Given the description of an element on the screen output the (x, y) to click on. 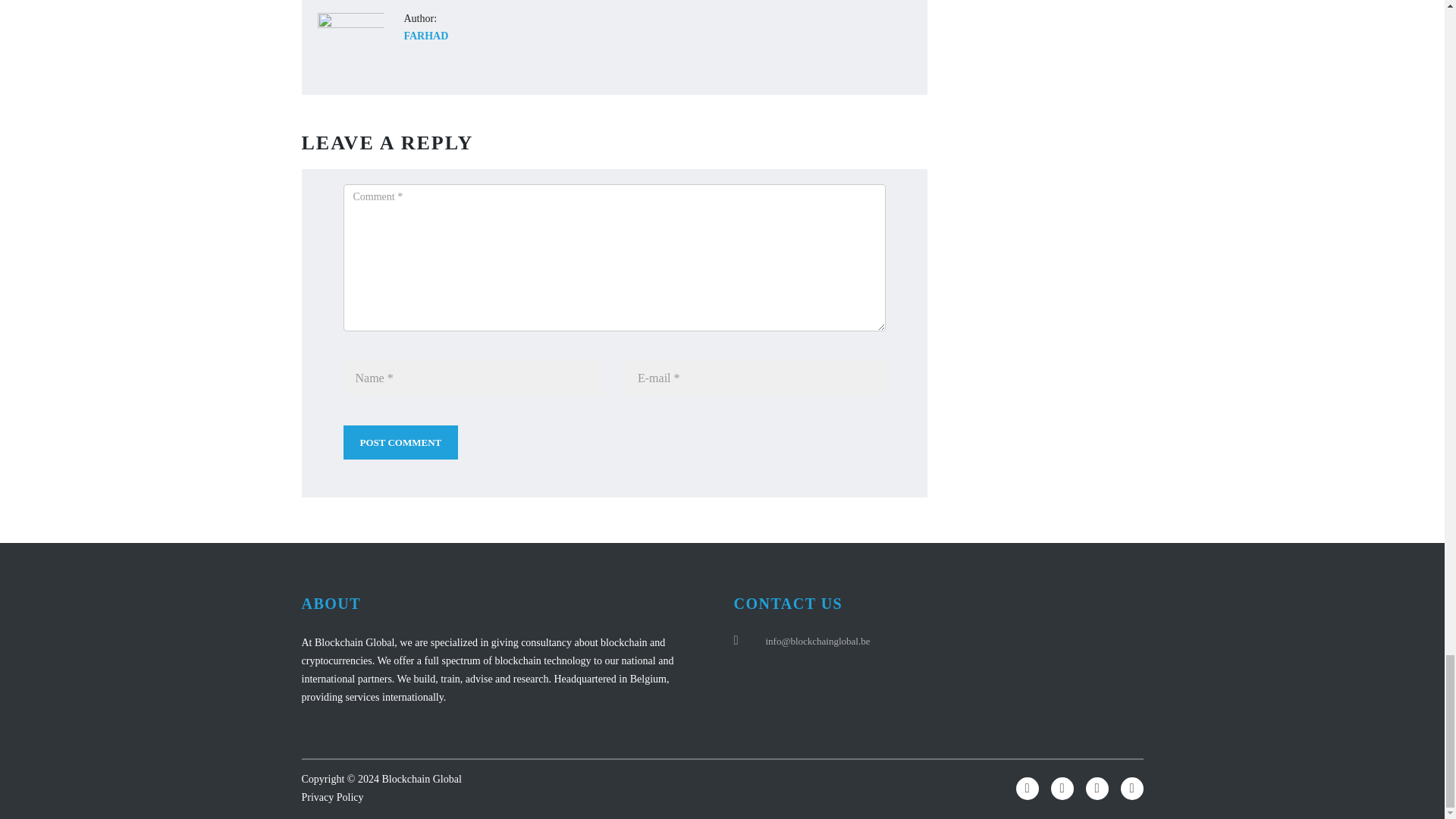
POST COMMENT (400, 442)
Social item (1027, 788)
Privacy Policy (332, 797)
